Given the description of an element on the screen output the (x, y) to click on. 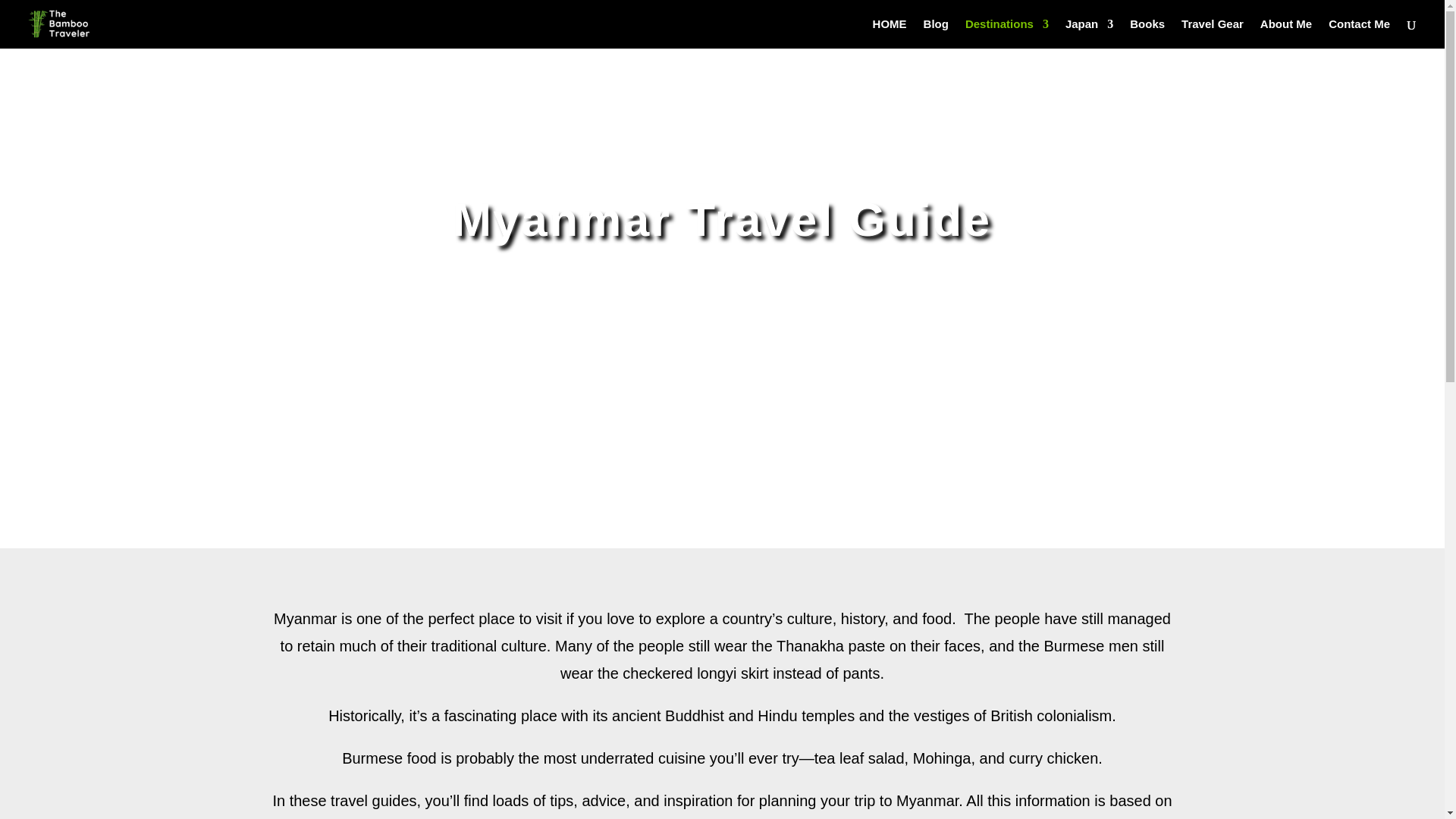
Japan (1089, 33)
HOME (889, 33)
Destinations (1006, 33)
Books (1146, 33)
